Given the description of an element on the screen output the (x, y) to click on. 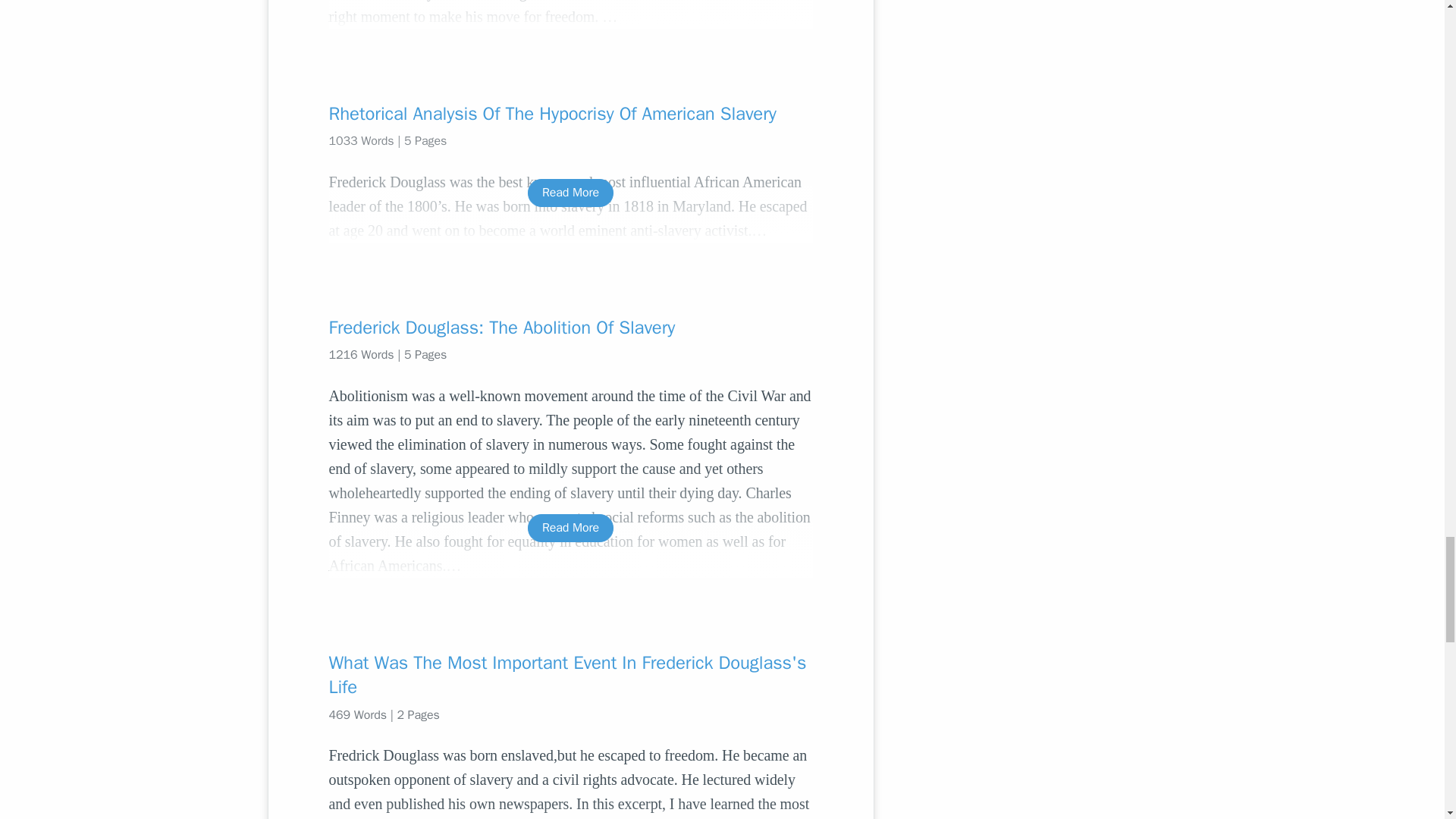
Frederick Douglass: The Abolition Of Slavery (570, 327)
Rhetorical Analysis Of The Hypocrisy Of American Slavery (570, 113)
Read More (569, 193)
